Given the description of an element on the screen output the (x, y) to click on. 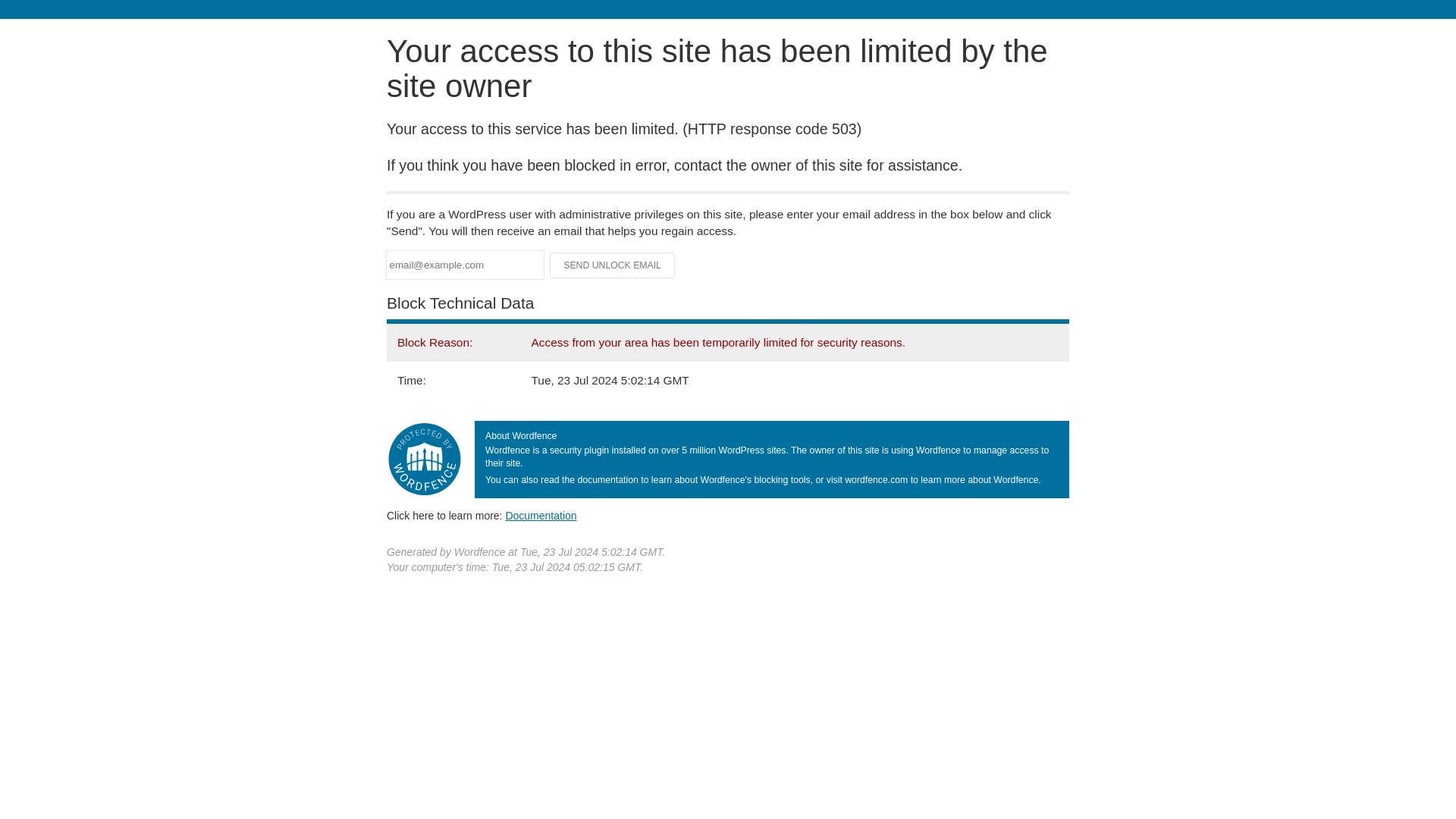
Send Unlock Email (612, 265)
Send Unlock Email (612, 265)
Documentation (540, 515)
